Given the description of an element on the screen output the (x, y) to click on. 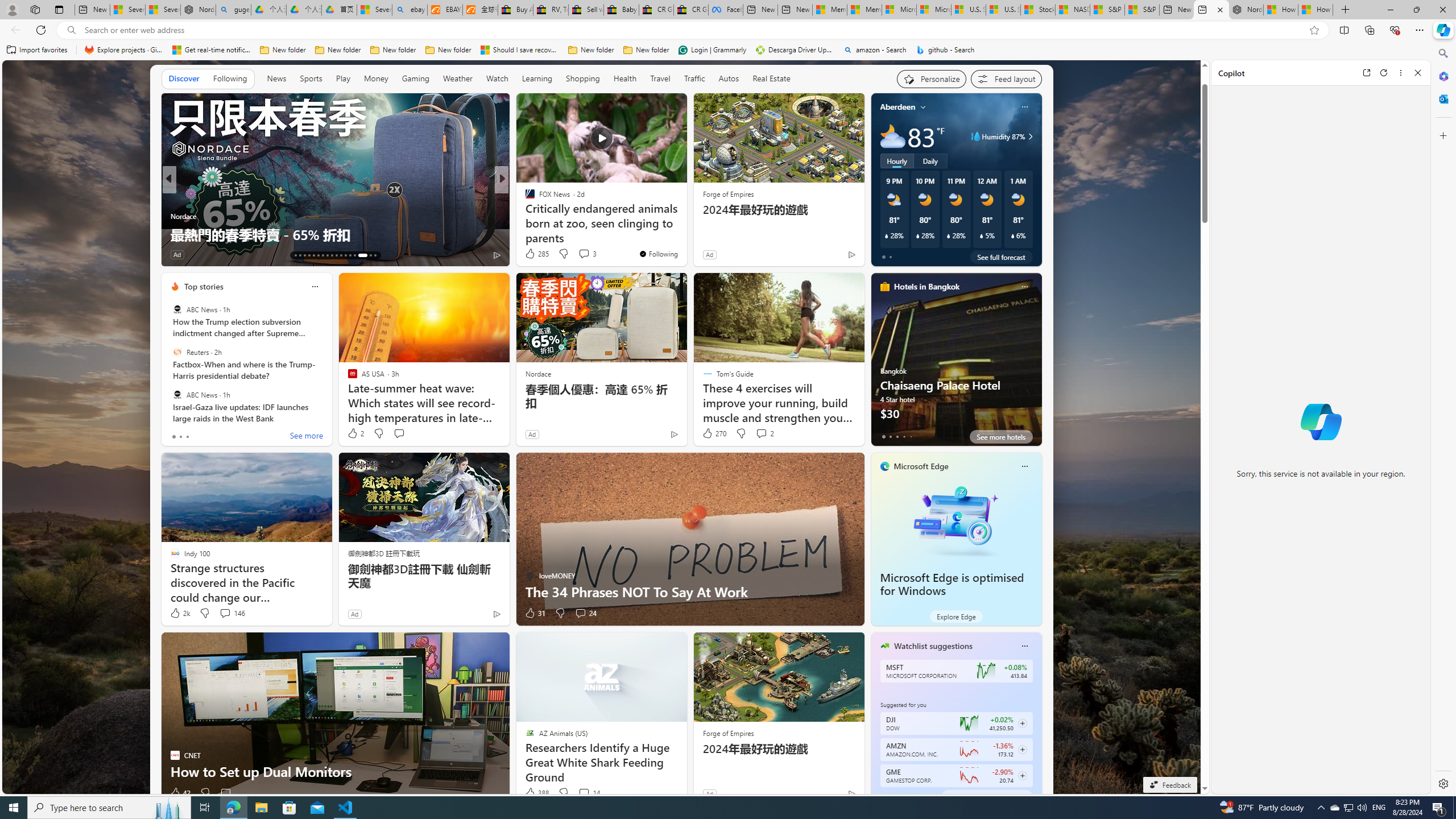
Ad Choice (851, 793)
Health (624, 79)
Storyful (174, 197)
How to Use a Monitor With Your Closed Laptop (1315, 9)
Browser essentials (1394, 29)
View comments 146 Comment (224, 613)
See more hotels (1000, 436)
Settings and more (Alt+F) (1419, 29)
Discover (183, 78)
Microsoft Edge (921, 466)
